Given the description of an element on the screen output the (x, y) to click on. 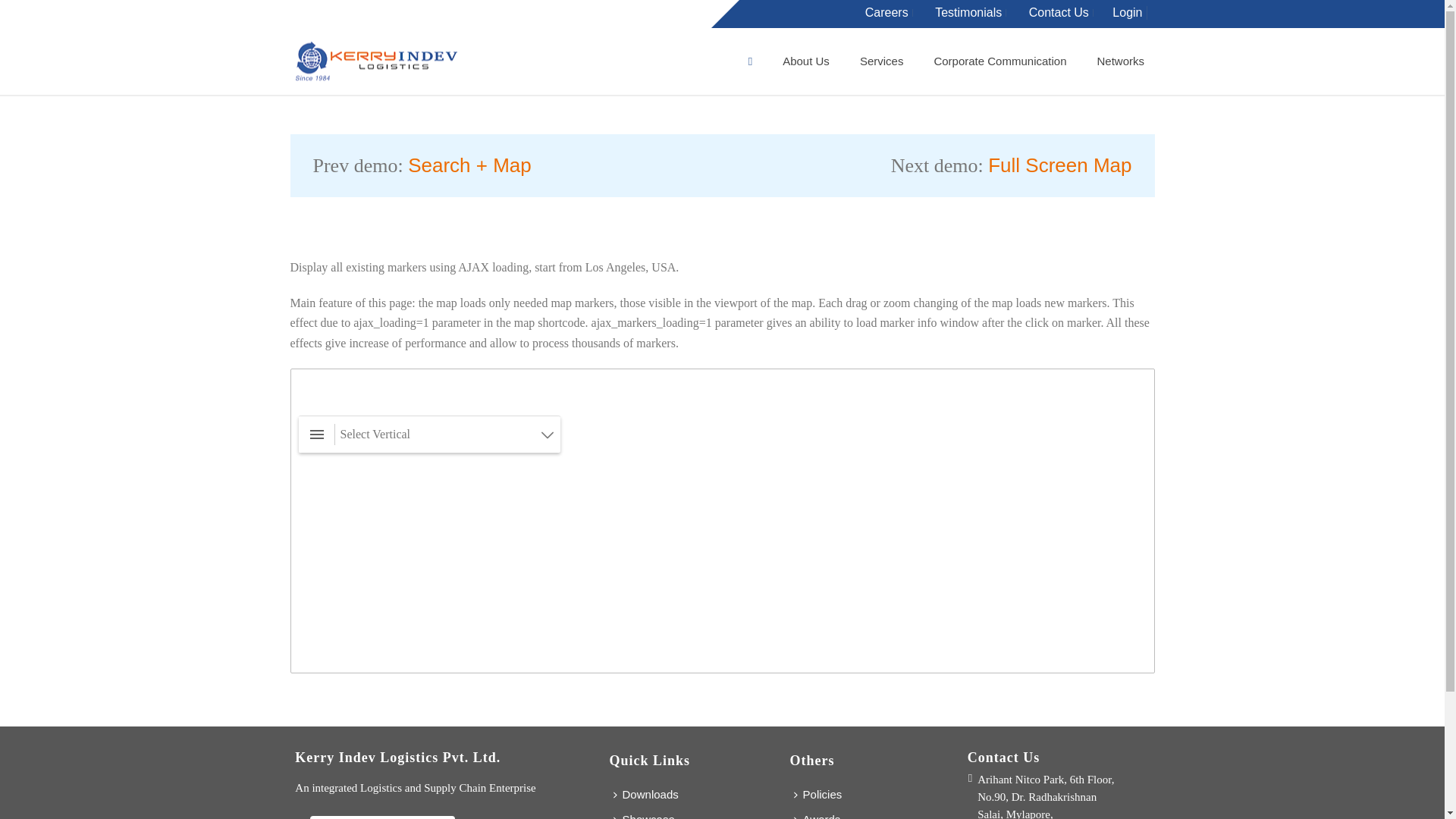
Login (1126, 12)
Services (881, 61)
Login (1120, 12)
Testimonials (960, 12)
Careers (878, 12)
About Us (805, 61)
Networks (1119, 61)
Contact Us (1051, 12)
Corporate Communication (999, 61)
Networks (1119, 61)
Corporate Communication (999, 61)
About Us (805, 61)
Services (881, 61)
